Given the description of an element on the screen output the (x, y) to click on. 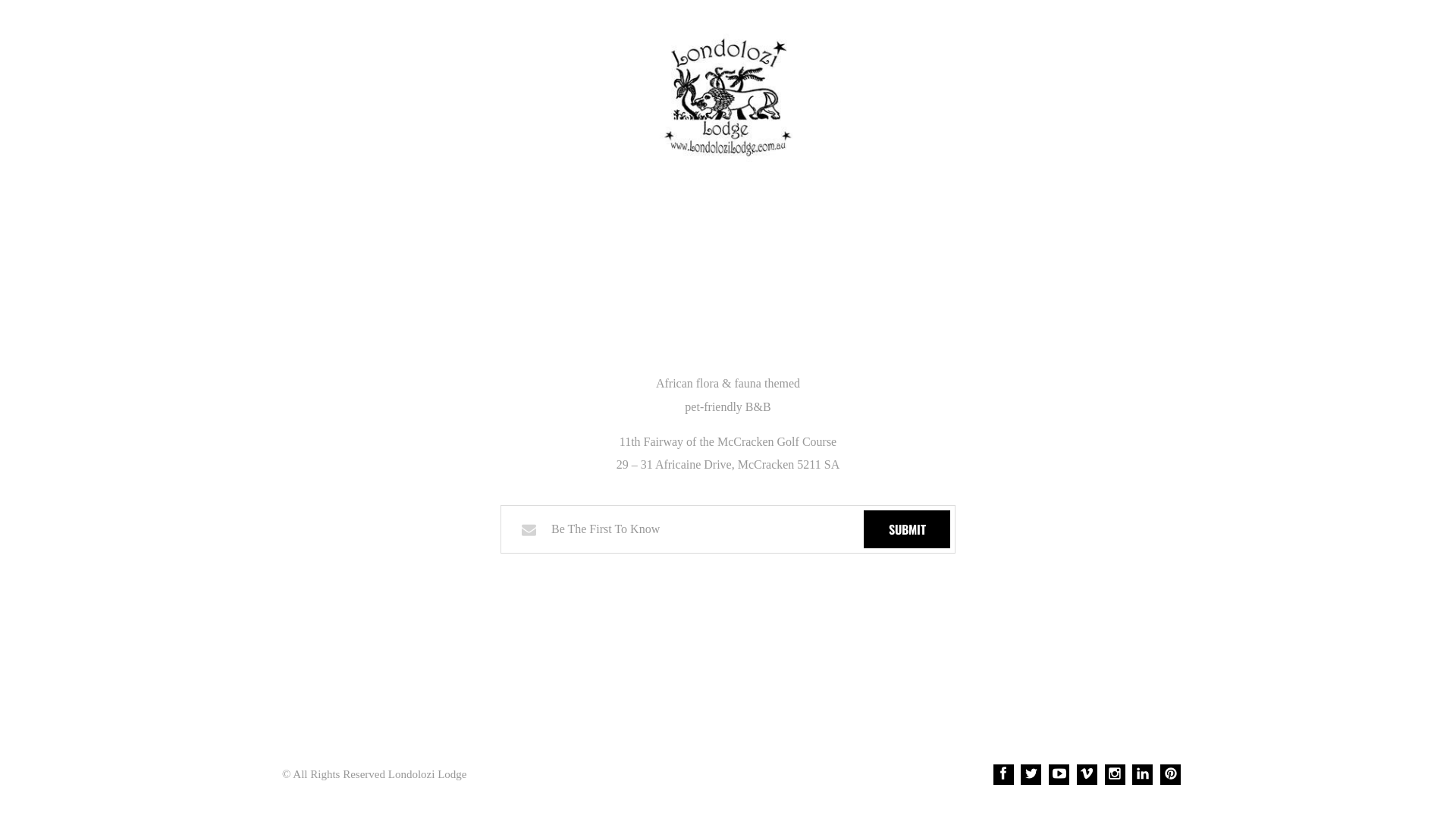
SUBMIT Element type: text (906, 529)
